Given the description of an element on the screen output the (x, y) to click on. 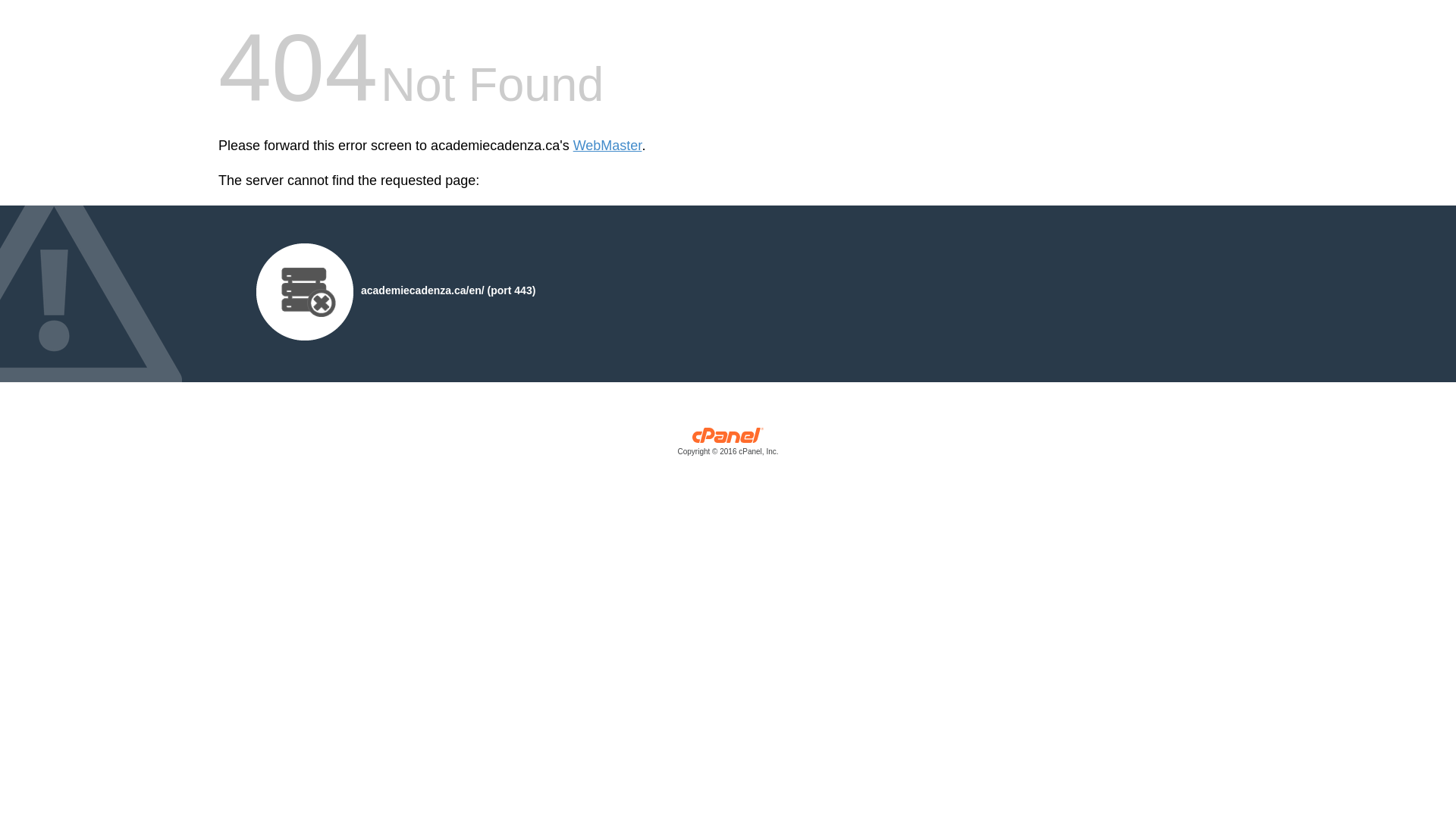
WebMaster Element type: text (607, 145)
